Given the description of an element on the screen output the (x, y) to click on. 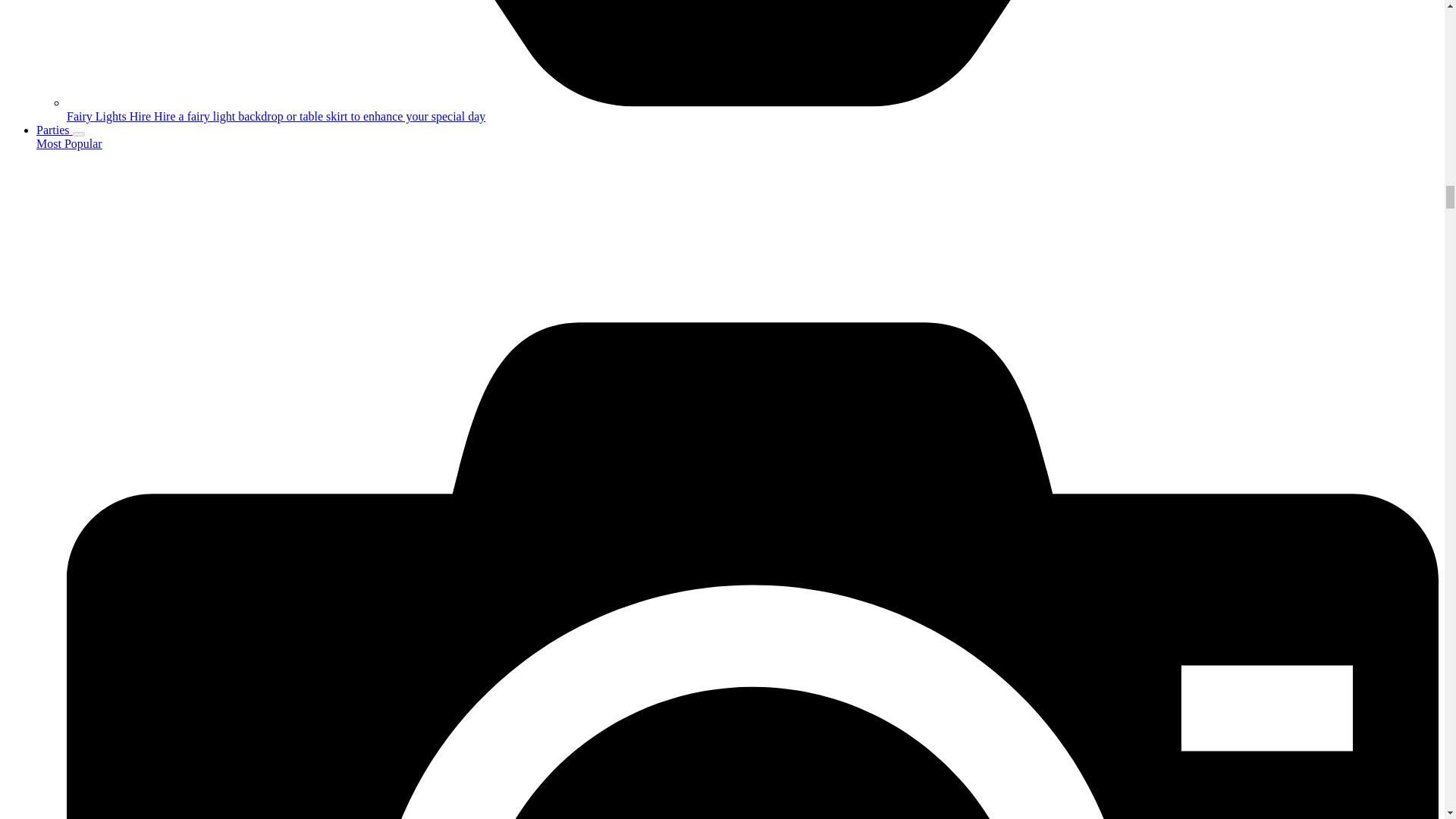
Most Popular (68, 143)
Parties (54, 129)
